Given the description of an element on the screen output the (x, y) to click on. 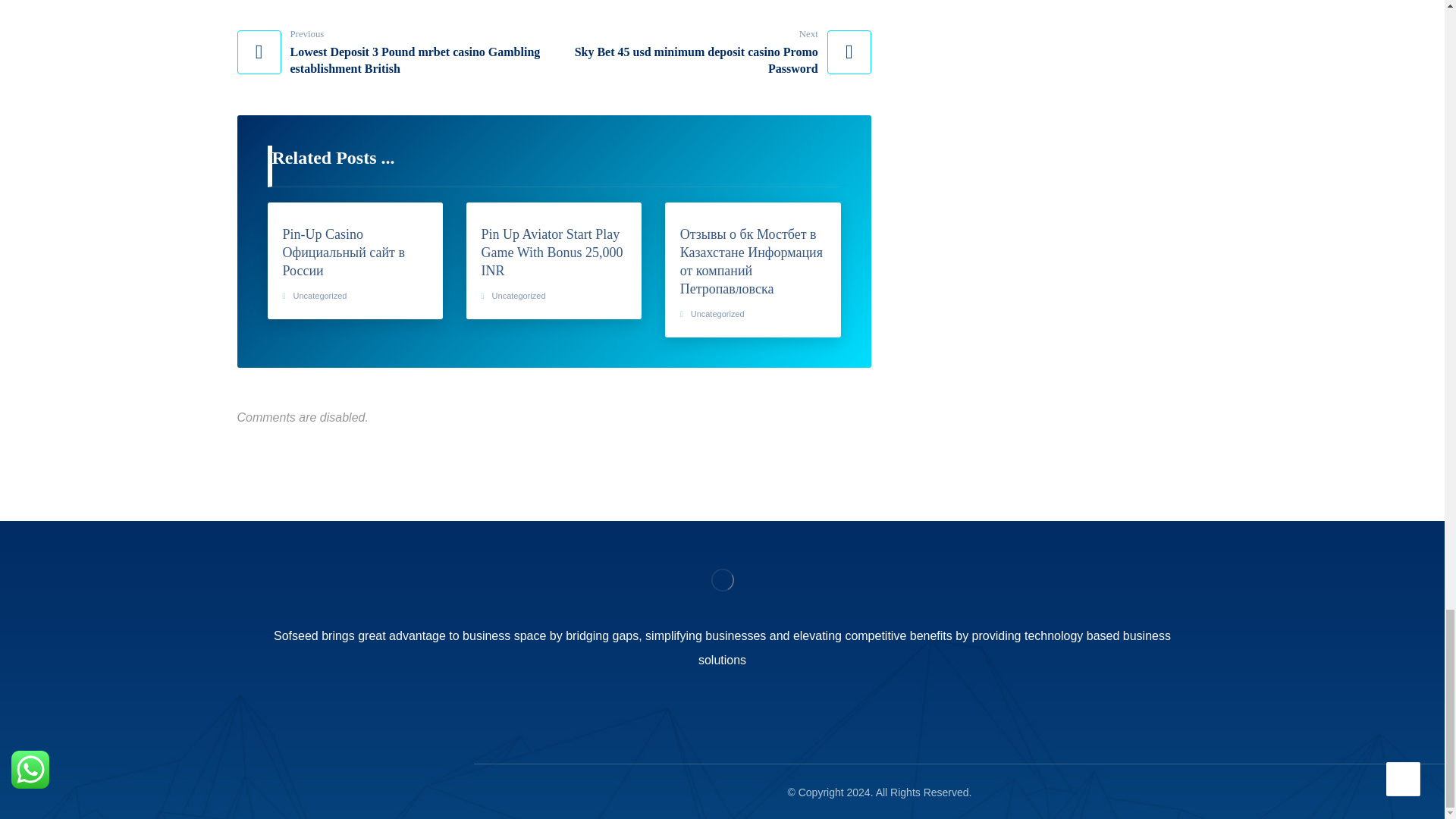
Pin Up Aviator Start Play Game With Bonus 25,000 INR (554, 252)
Uncategorized (712, 51)
Uncategorized (320, 295)
